Given the description of an element on the screen output the (x, y) to click on. 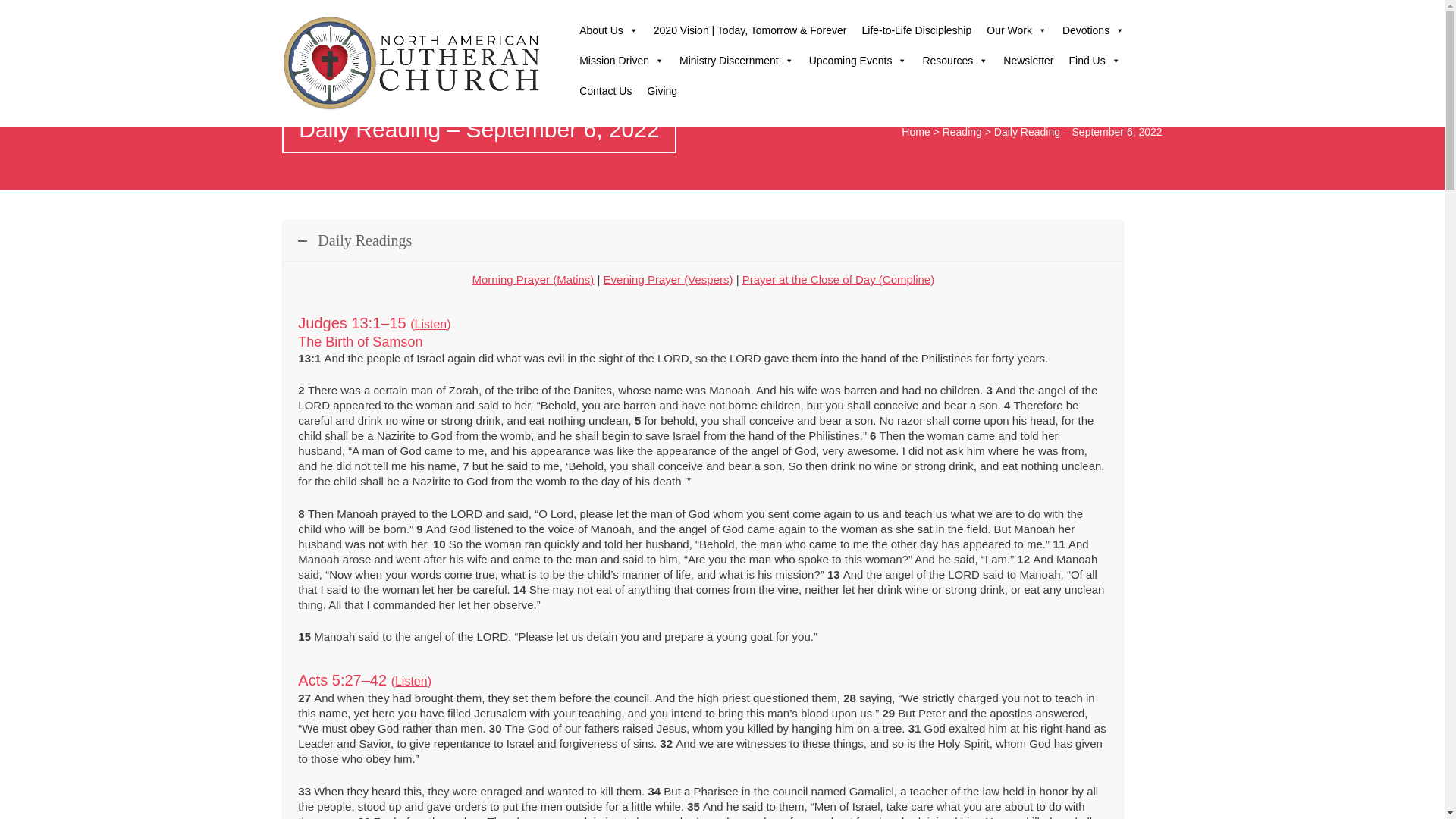
Tel.:888-551-7254 (959, 11)
Social Buttons (1051, 15)
North American Lutheran Church -  (413, 63)
Life-to-Life Discipleship (916, 30)
Search (21, 12)
Search (1082, 15)
DONATE (1129, 10)
About Us (609, 30)
Our Work (1016, 30)
Contact (1021, 15)
